Given the description of an element on the screen output the (x, y) to click on. 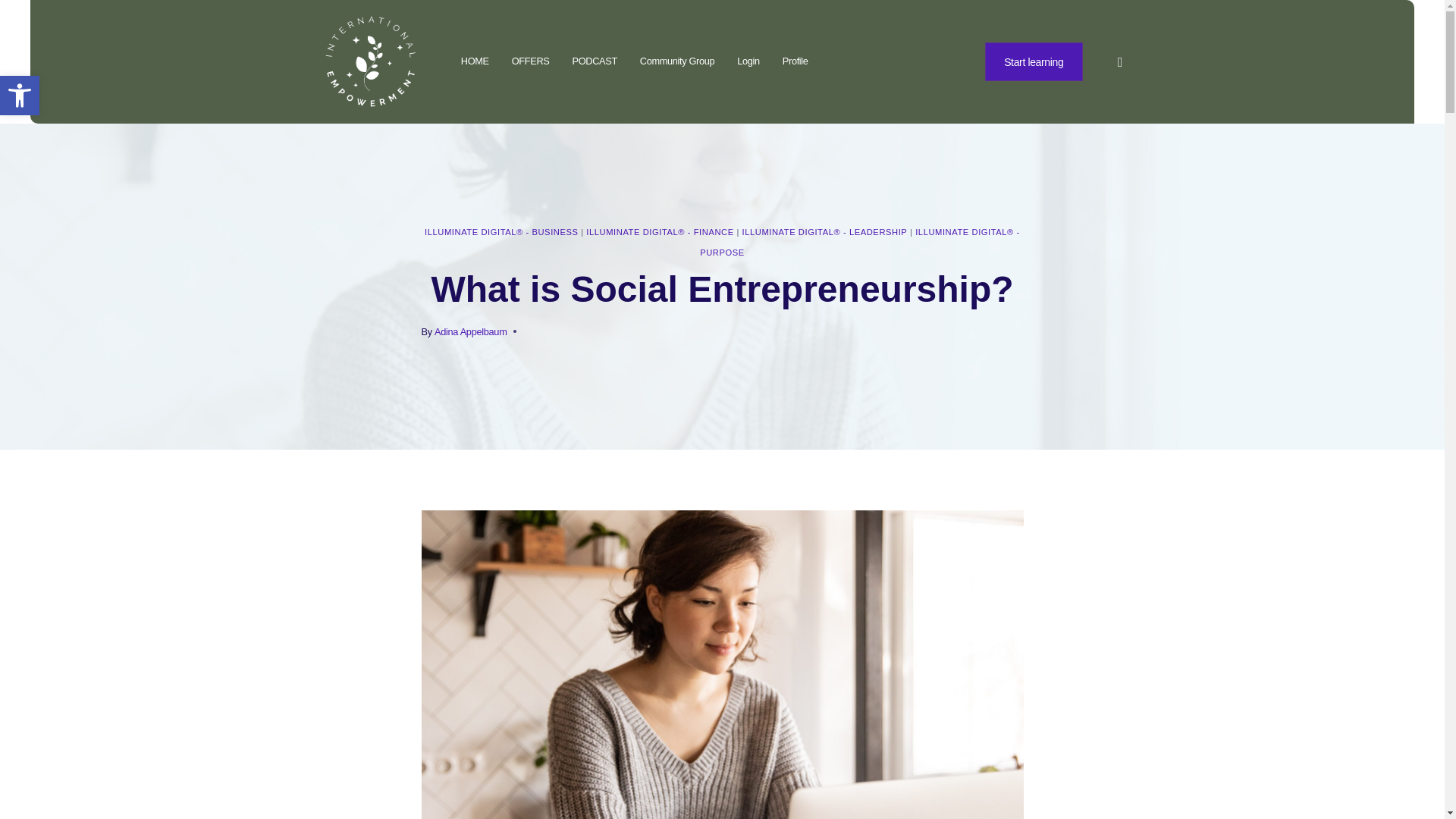
OFFERS (531, 58)
Accessibility Tools (19, 95)
Start learning (1034, 56)
Accessibility Tools (19, 95)
Community Group (677, 58)
HOME (19, 95)
Profile (475, 57)
PODCAST (795, 58)
Login (594, 58)
